Given the description of an element on the screen output the (x, y) to click on. 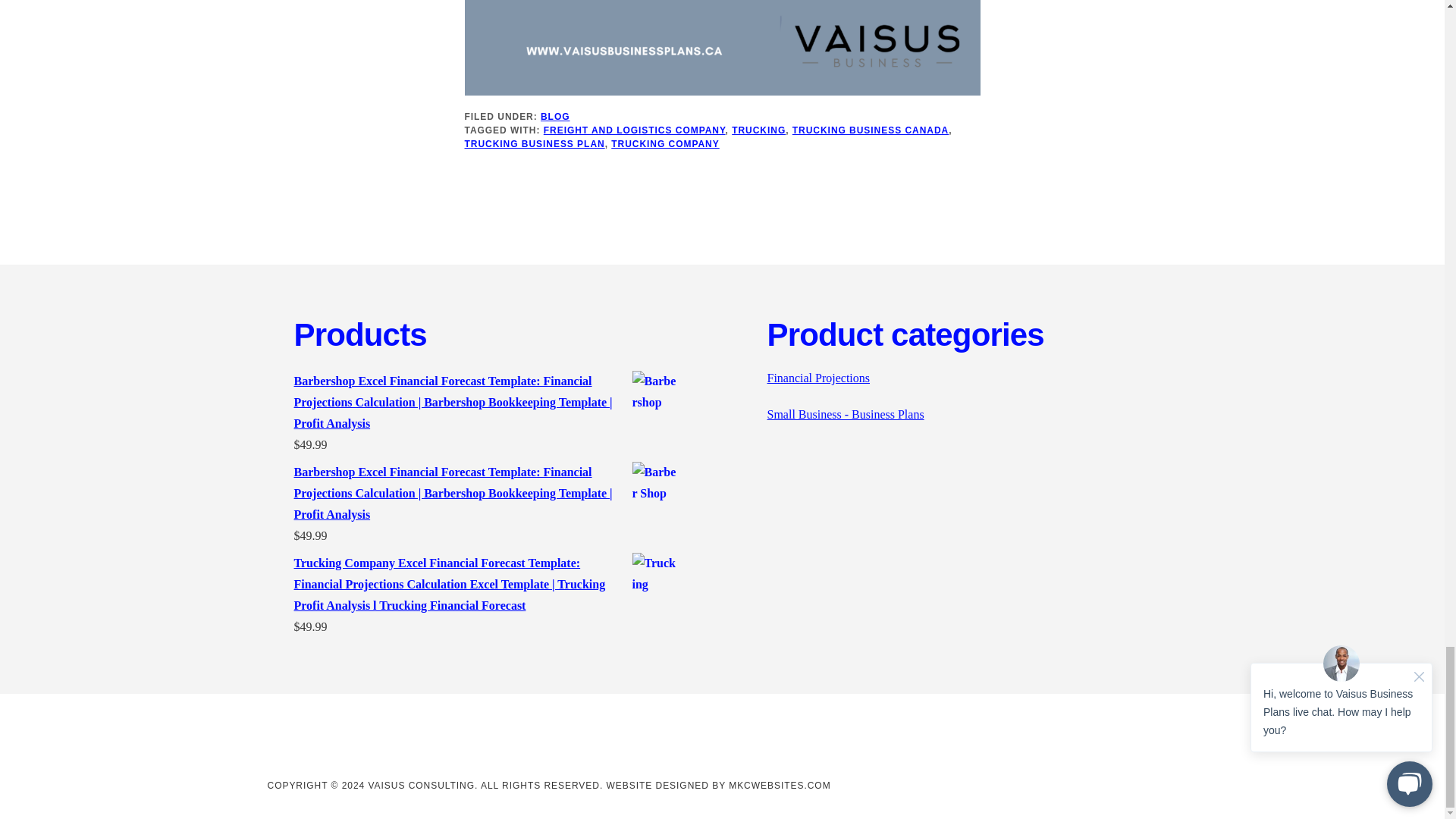
FREIGHT AND LOGISTICS COMPANY (634, 130)
Small Business - Business Plans (845, 413)
Financial Projections (818, 377)
TRUCKING BUSINESS CANADA (870, 130)
TRUCKING BUSINESS PLAN (534, 143)
BLOG (555, 116)
TRUCKING (759, 130)
TRUCKING COMPANY (665, 143)
